Given the description of an element on the screen output the (x, y) to click on. 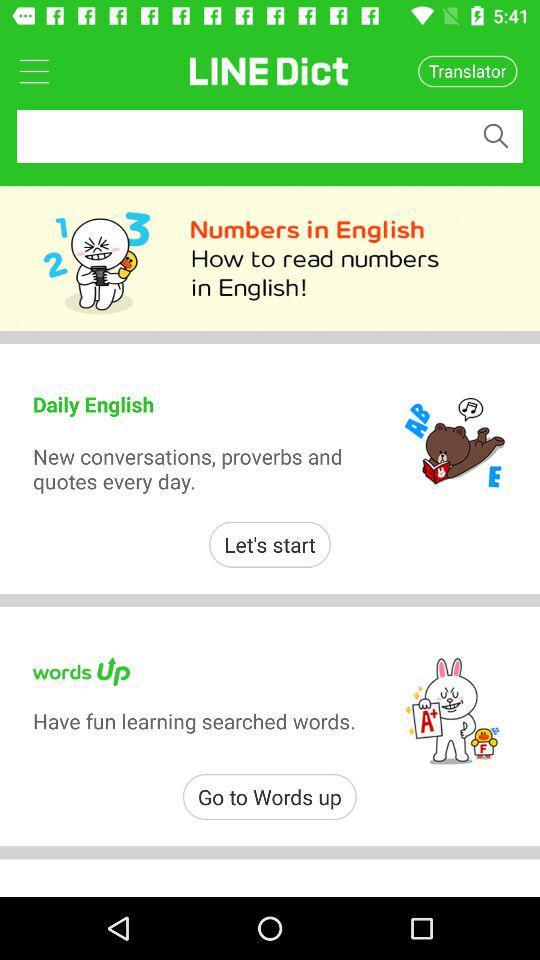
open dropdown menu (33, 70)
